Given the description of an element on the screen output the (x, y) to click on. 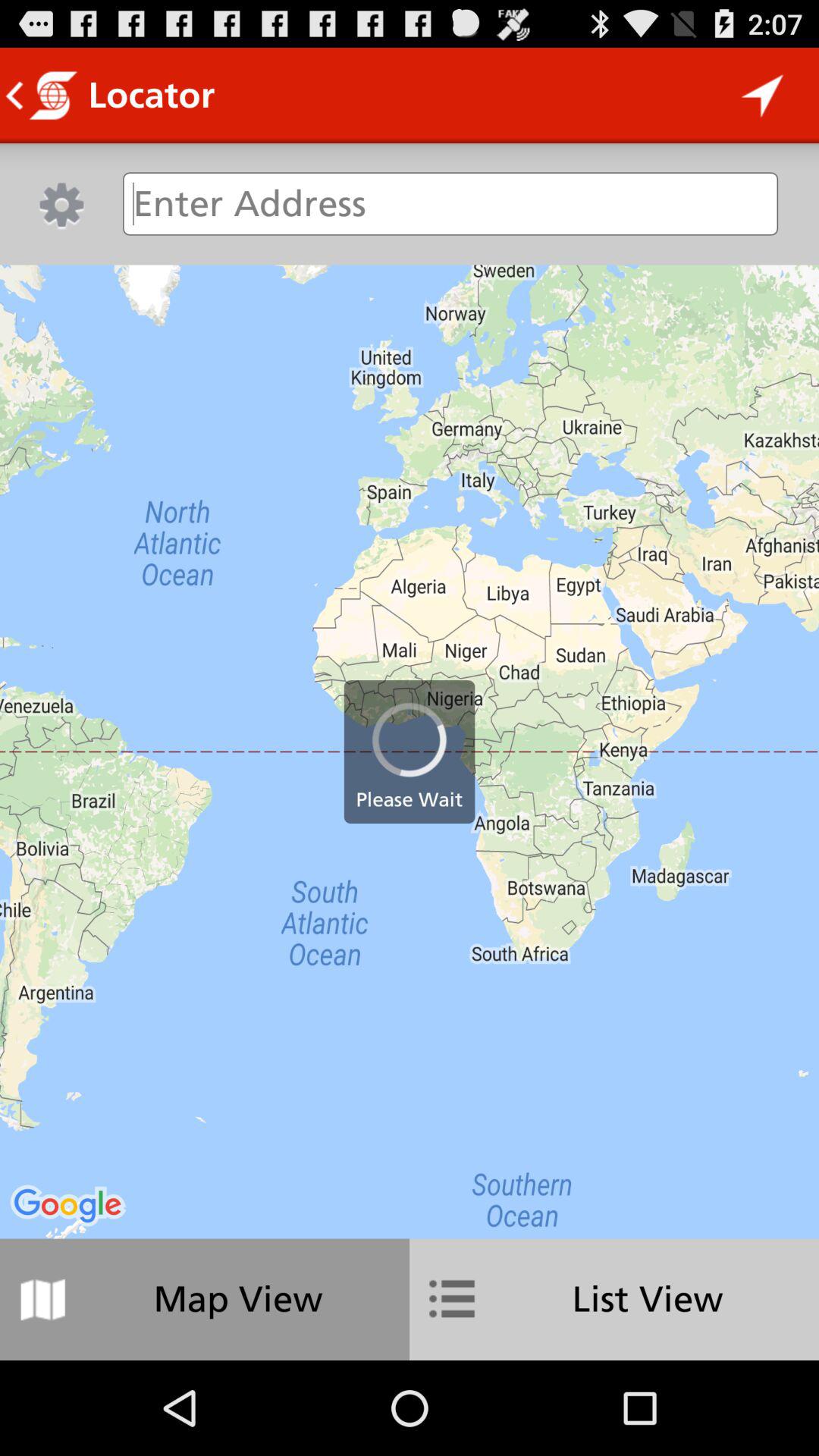
choose icon above map view item (409, 751)
